Given the description of an element on the screen output the (x, y) to click on. 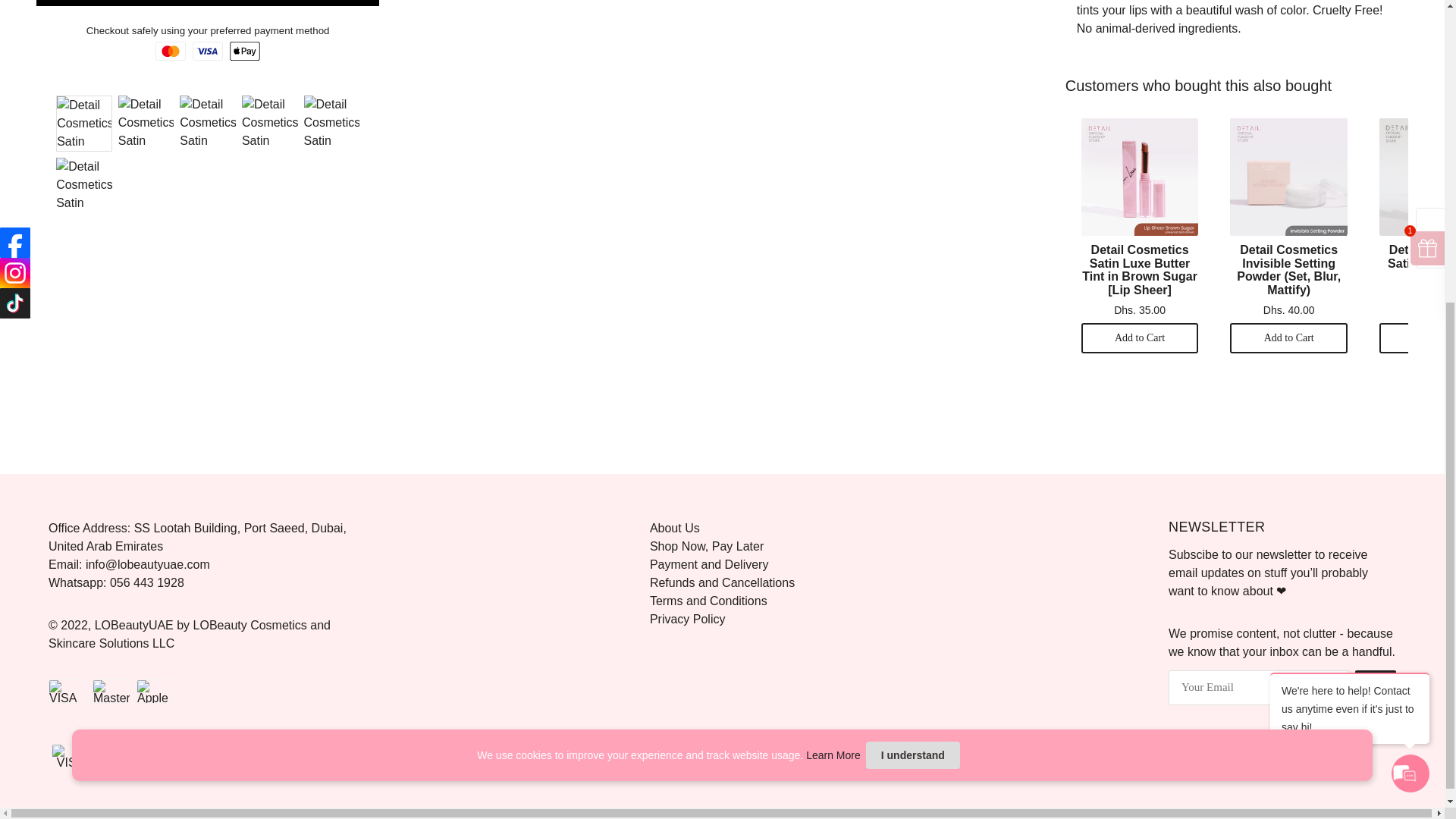
Apple Pay (155, 691)
Terms and Conditions (708, 600)
Shop Now, Pay Later (705, 545)
About Us (674, 527)
Mastercard (114, 755)
Mastercard (112, 691)
VISA (66, 691)
Apple Pay (158, 755)
Privacy Policy (687, 618)
VISA (69, 755)
Refunds and Cancellations (721, 582)
Payment and Delivery (708, 563)
